Given the description of an element on the screen output the (x, y) to click on. 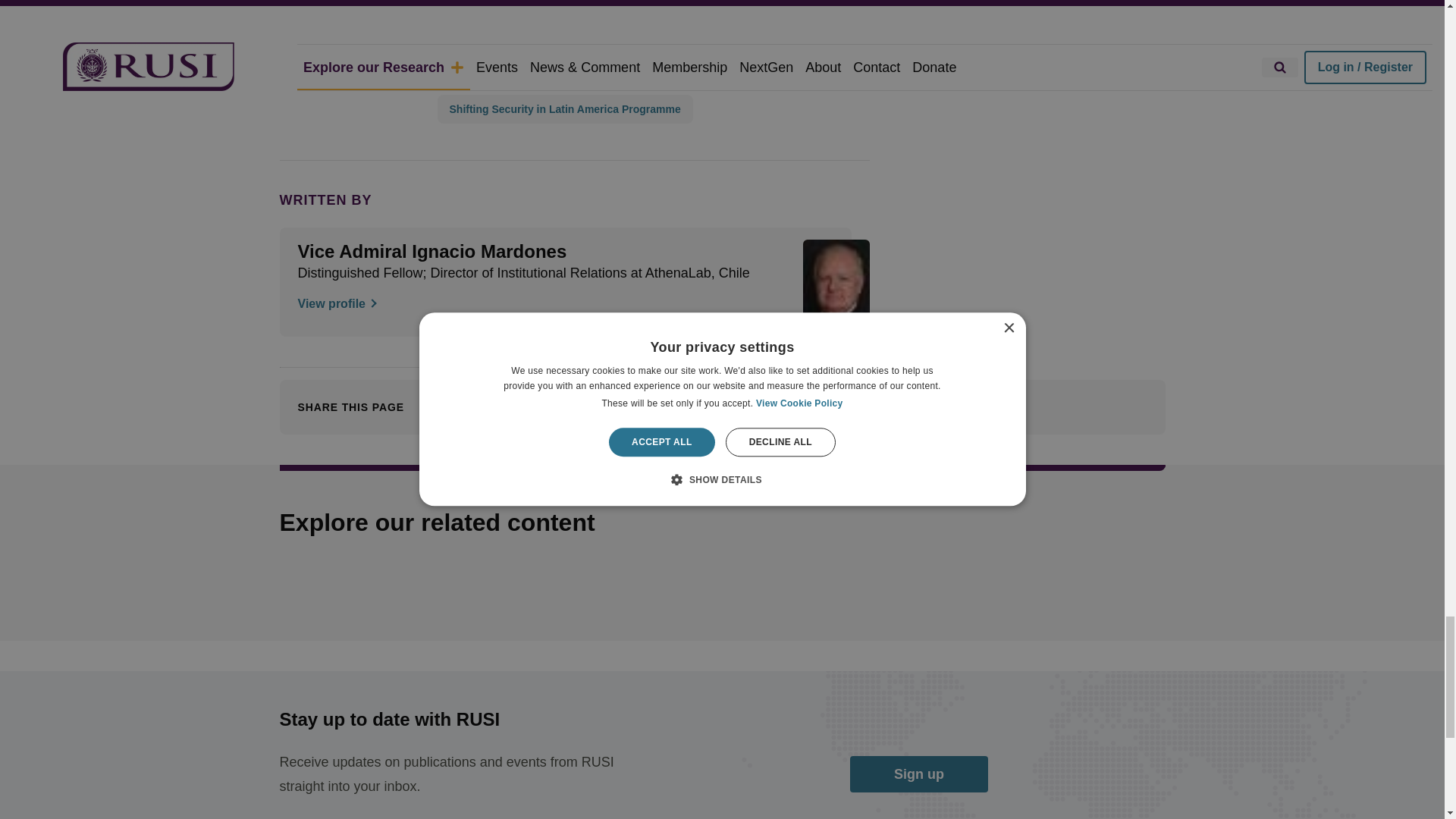
Americas (472, 9)
International Security (502, 39)
Latin America (562, 9)
Navigating the Indo-Pacific Programme (547, 73)
Shifting Security in Latin America Programme (564, 109)
